Given the description of an element on the screen output the (x, y) to click on. 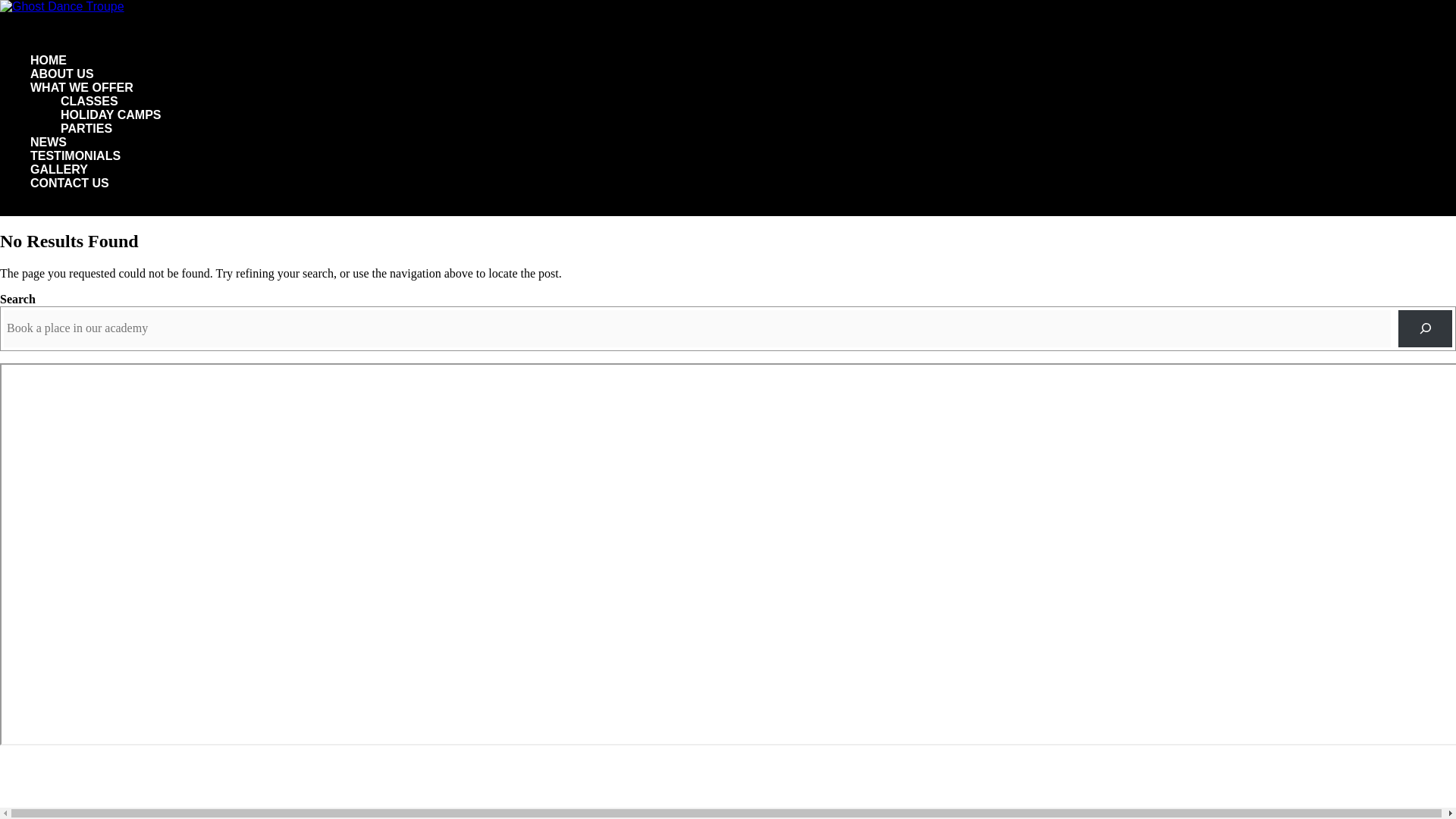
HOME (48, 74)
GALLERY (58, 182)
HOLIDAY CAMPS (110, 114)
WHAT WE OFFER (81, 101)
CONTACT US (69, 196)
PARTIES (86, 128)
ABOUT US (62, 87)
NEWS (48, 155)
TESTIMONIALS (75, 169)
CLASSES (89, 101)
